Given the description of an element on the screen output the (x, y) to click on. 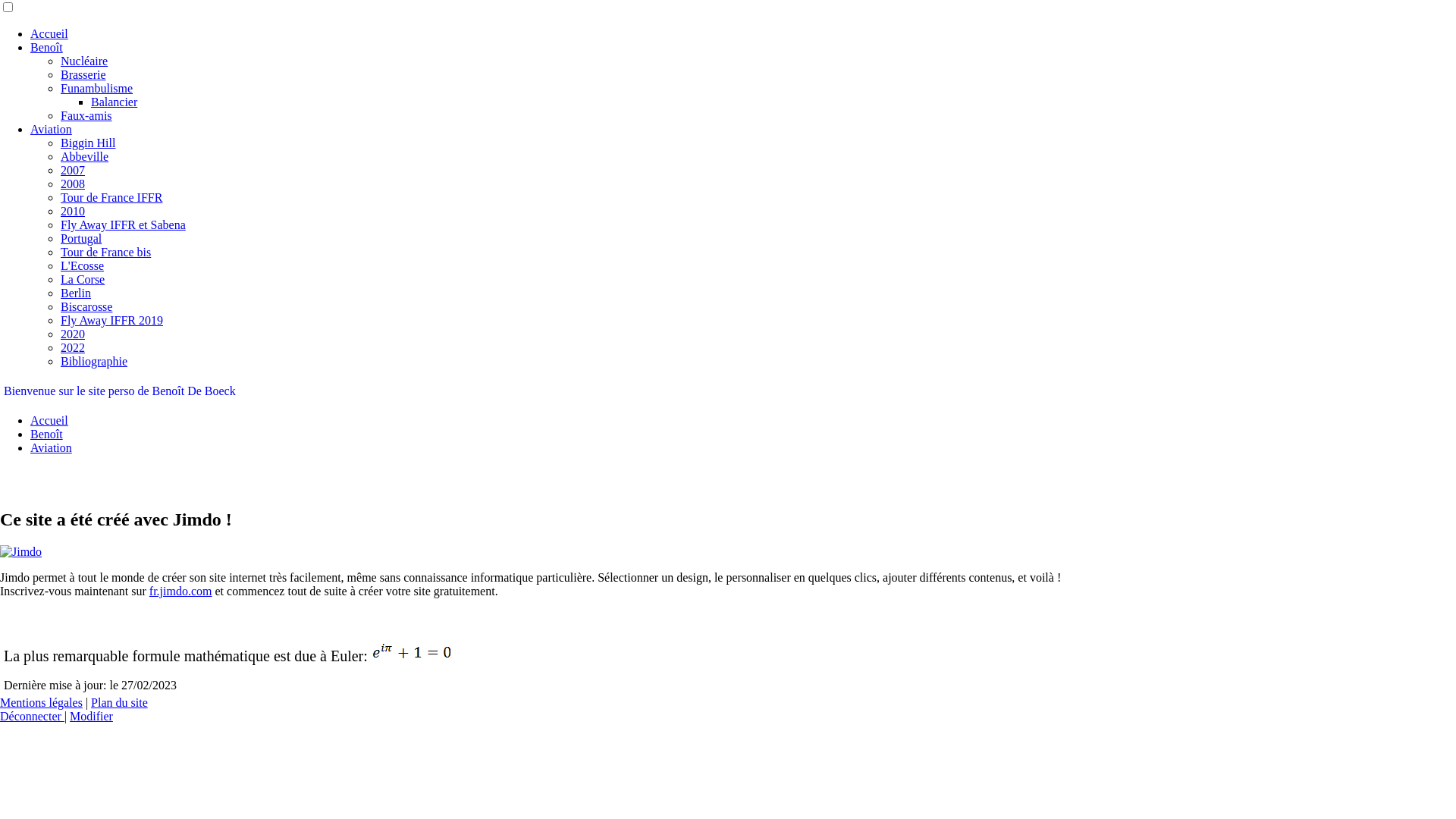
Berlin Element type: text (75, 292)
2010 Element type: text (72, 210)
Fly Away IFFR 2019 Element type: text (111, 319)
Brasserie Element type: text (83, 74)
Aviation Element type: text (51, 128)
L'Ecosse Element type: text (81, 265)
Abbeville Element type: text (84, 156)
2007 Element type: text (72, 169)
Plan du site Element type: text (119, 702)
Portugal Element type: text (80, 238)
Accueil Element type: text (49, 33)
Fly Away IFFR et Sabena Element type: text (122, 224)
fr.jimdo.com Element type: text (180, 590)
Balancier Element type: text (114, 101)
Aviation Element type: text (51, 447)
Biscarosse Element type: text (86, 306)
2020 Element type: text (72, 333)
Accueil Element type: text (49, 420)
Funambulisme Element type: text (96, 87)
Jimdo Element type: hover (20, 551)
La Corse Element type: text (82, 279)
Modifier Element type: text (90, 715)
2022 Element type: text (72, 347)
Biggin Hill Element type: text (87, 142)
Faux-amis Element type: text (86, 115)
Bibliographie Element type: text (93, 360)
Tour de France IFFR Element type: text (111, 197)
Tour de France bis Element type: text (105, 251)
2008 Element type: text (72, 183)
